Given the description of an element on the screen output the (x, y) to click on. 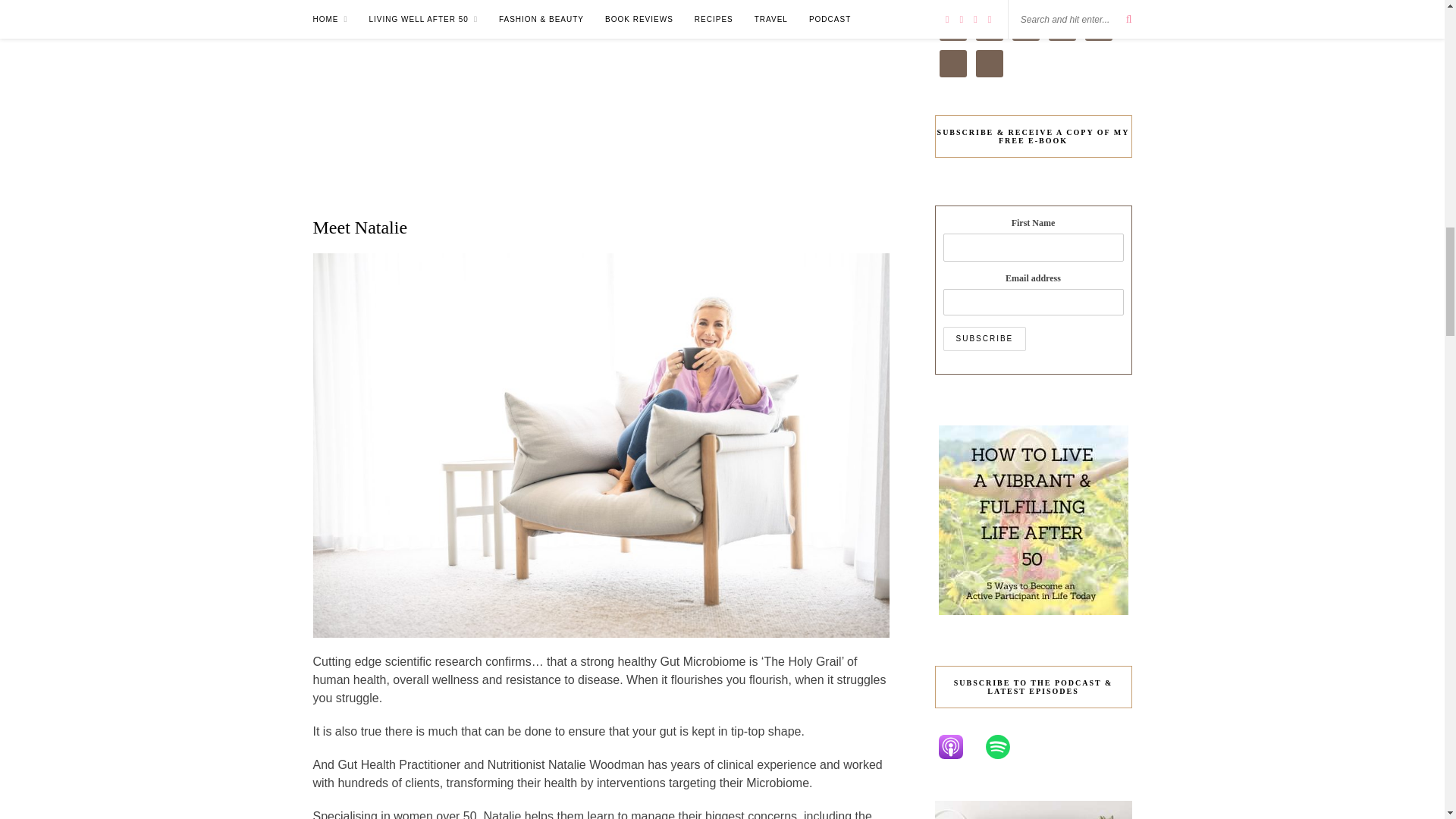
Spotify (1004, 746)
Subscribe (984, 338)
Apple-Podcasts (957, 746)
